Given the description of an element on the screen output the (x, y) to click on. 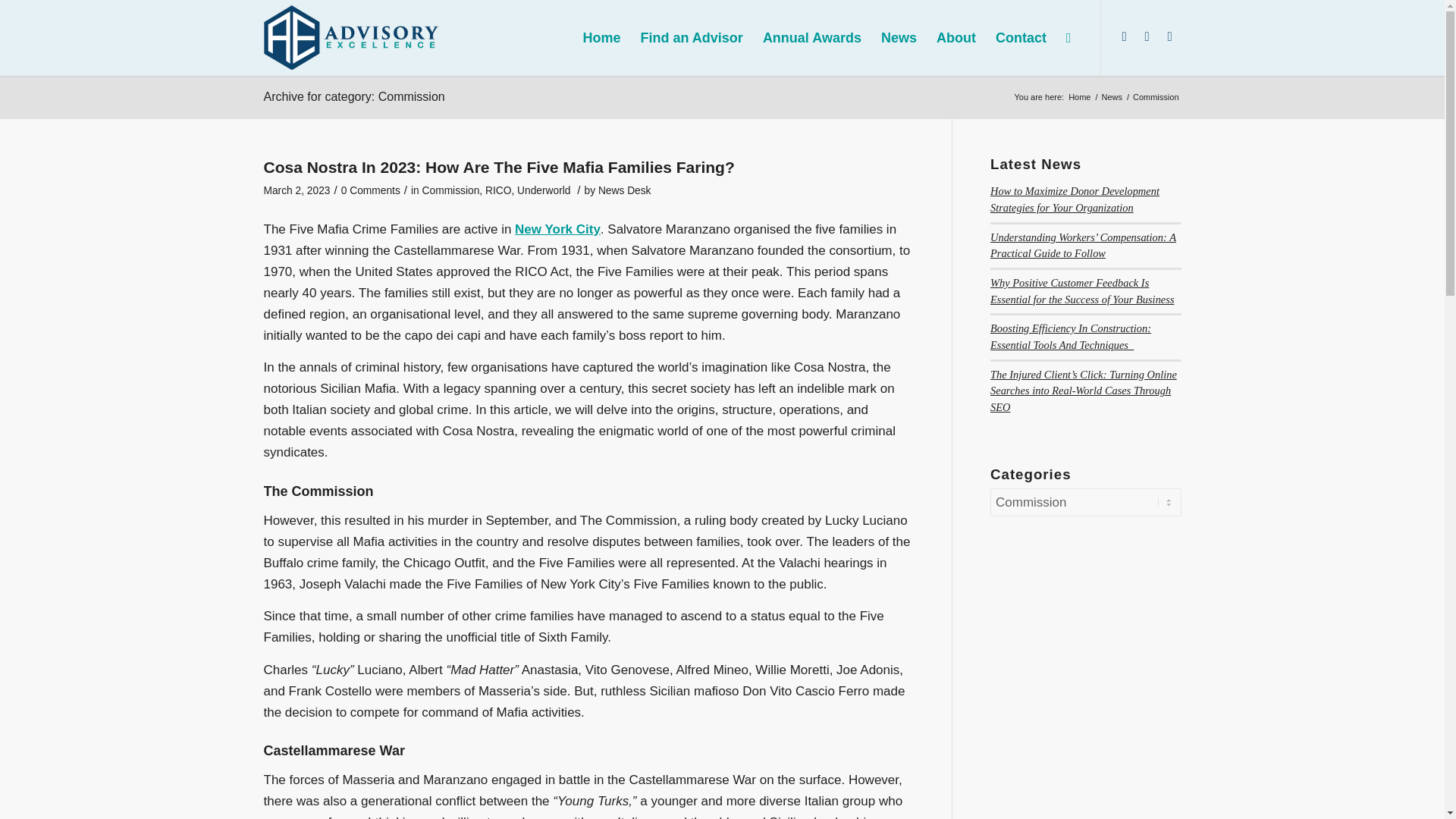
Cosa Nostra In 2023: How Are The Five Mafia Families Faring? (499, 167)
Advisory Excellence (1079, 97)
Commission (451, 190)
Home (1079, 97)
LinkedIn (1124, 36)
Archive for category: Commission (354, 96)
New York City (557, 228)
Find an Advisor (691, 38)
News Desk (624, 190)
